Given the description of an element on the screen output the (x, y) to click on. 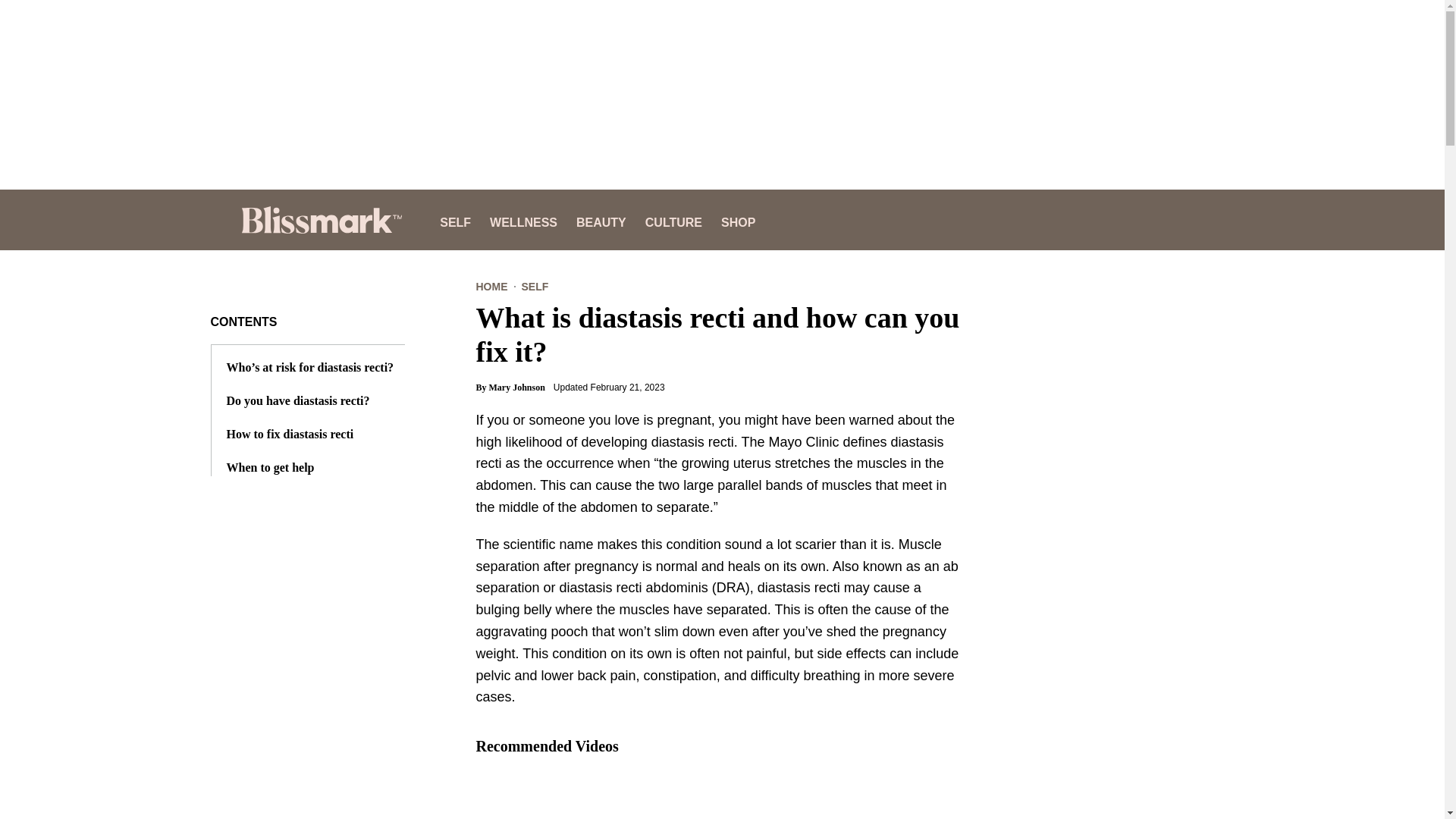
SELF (534, 286)
Do you have diastasis recti? (297, 400)
Mary Johnson (518, 387)
How to fix diastasis recti (289, 434)
CULTURE (673, 219)
WELLNESS (523, 219)
When to get help (269, 468)
HOME (492, 286)
